Given the description of an element on the screen output the (x, y) to click on. 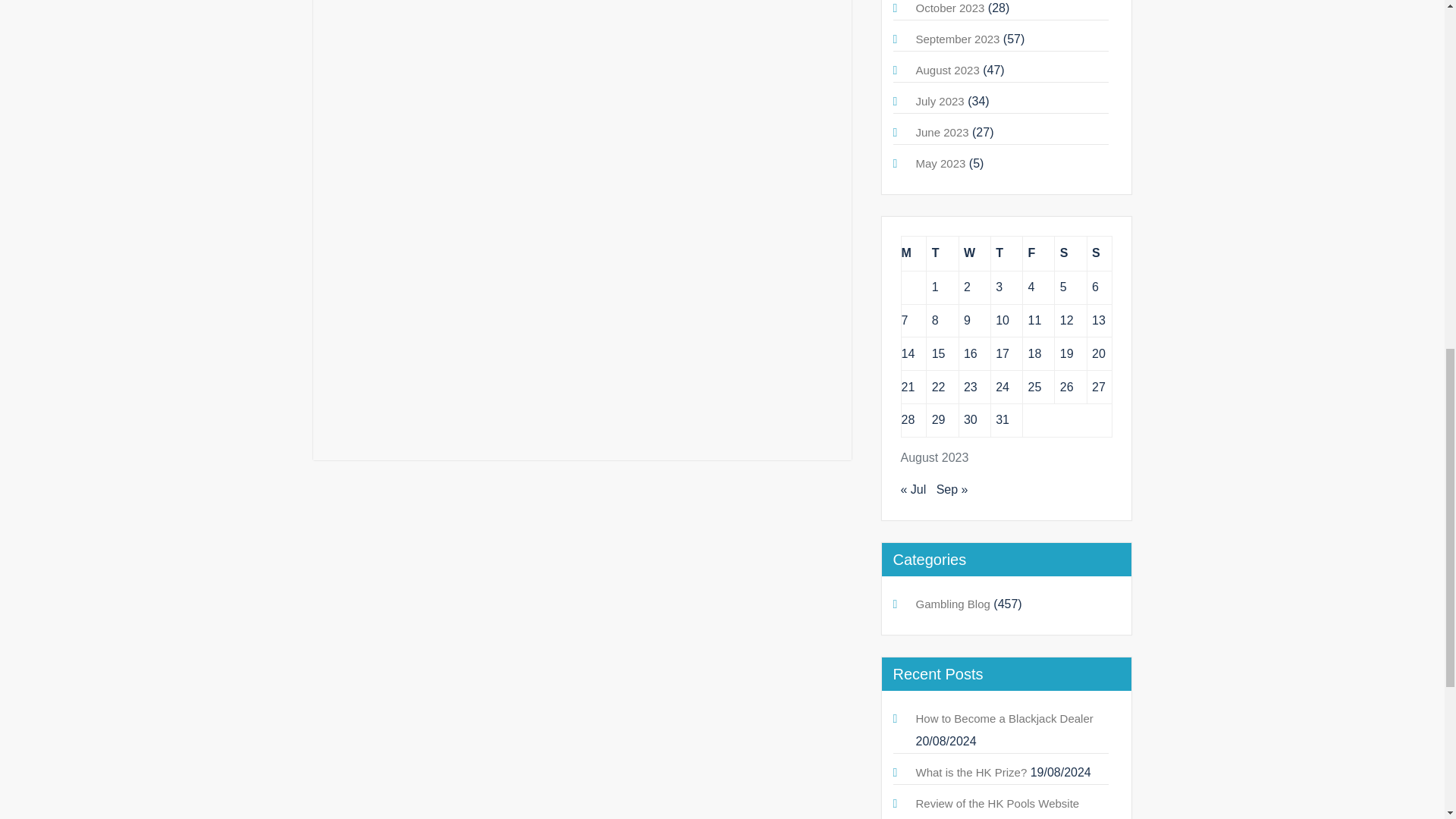
10 (1002, 319)
July 2023 (939, 101)
October 2023 (950, 7)
Tuesday (942, 253)
17 (1002, 353)
June 2023 (942, 132)
Saturday (1070, 253)
Thursday (1006, 253)
Wednesday (974, 253)
September 2023 (957, 38)
